Given the description of an element on the screen output the (x, y) to click on. 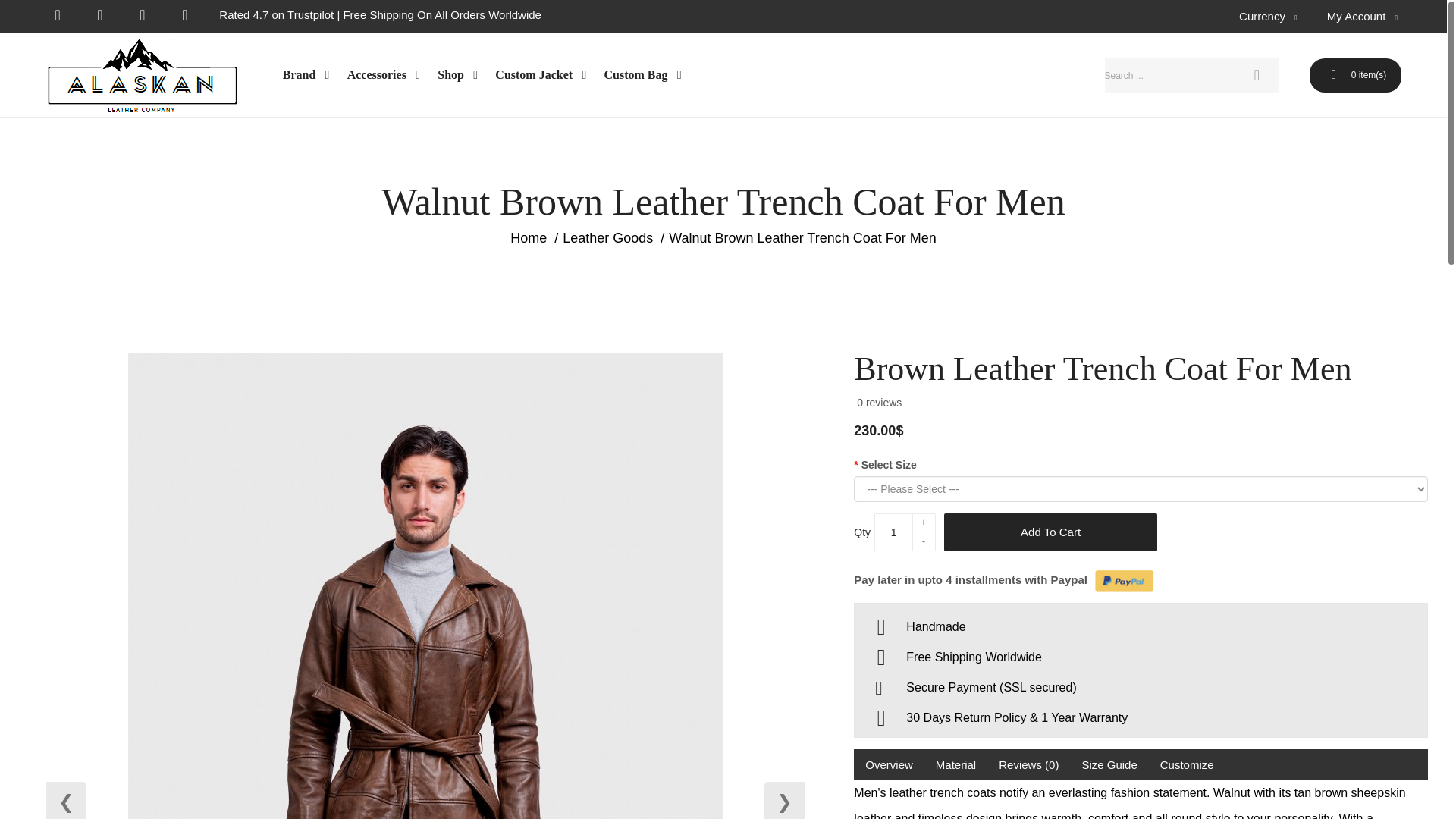
Accessories (384, 75)
1 (893, 532)
My Account (1364, 16)
AlaskanLeatherCompany (141, 75)
- (923, 541)
Currency (1270, 16)
Custom Jacket (541, 75)
